Given the description of an element on the screen output the (x, y) to click on. 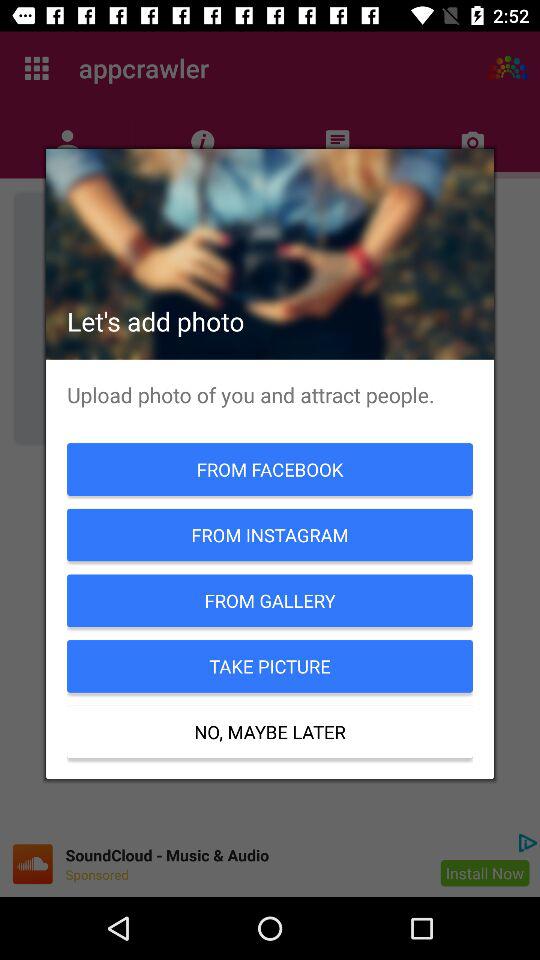
turn on from facebook (269, 469)
